Given the description of an element on the screen output the (x, y) to click on. 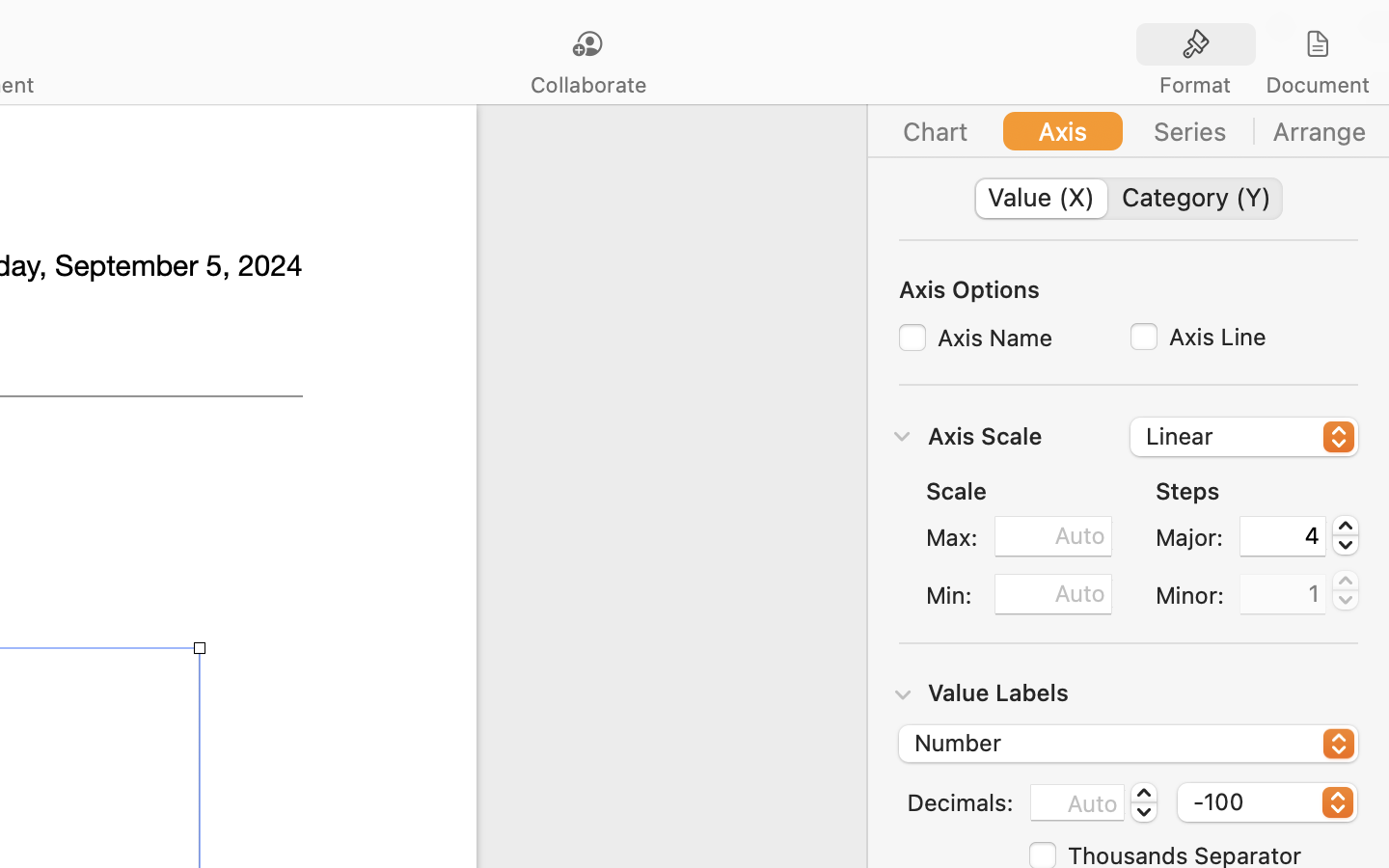
Linear Element type: AXPopUpButton (1244, 438)
Decimals: Element type: AXStaticText (959, 800)
1.0 Element type: AXIncrementor (1345, 590)
-100 Element type: AXPopUpButton (1267, 805)
